Given the description of an element on the screen output the (x, y) to click on. 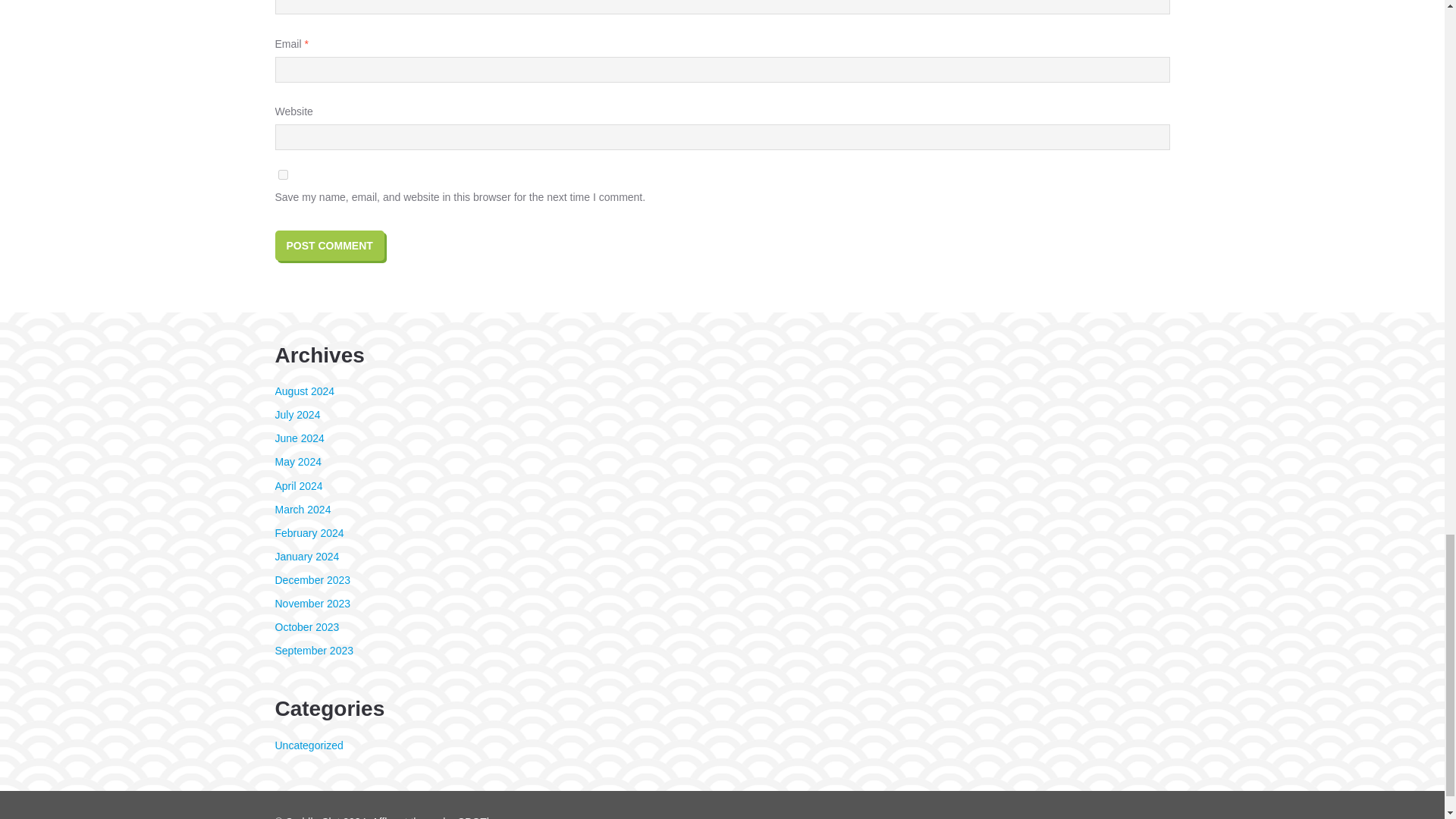
Affluent (389, 817)
yes (282, 174)
March 2024 (302, 509)
November 2023 (312, 603)
January 2024 (307, 556)
July 2024 (297, 414)
June 2024 (299, 438)
September 2023 (314, 650)
December 2023 (312, 580)
May 2024 (297, 461)
